Given the description of an element on the screen output the (x, y) to click on. 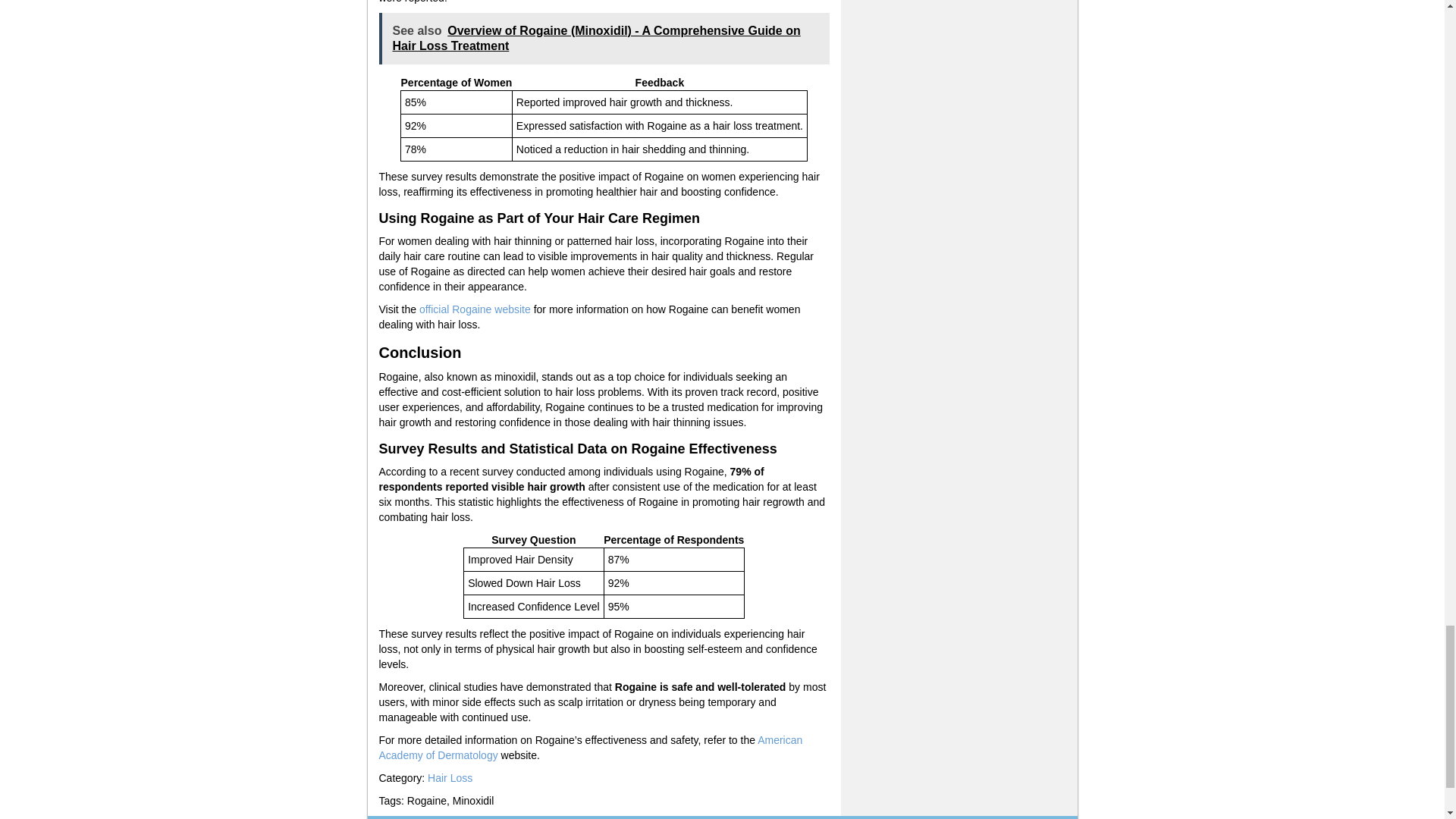
official Rogaine website (475, 309)
American Academy of Dermatology (590, 747)
Hair Loss (449, 777)
